Given the description of an element on the screen output the (x, y) to click on. 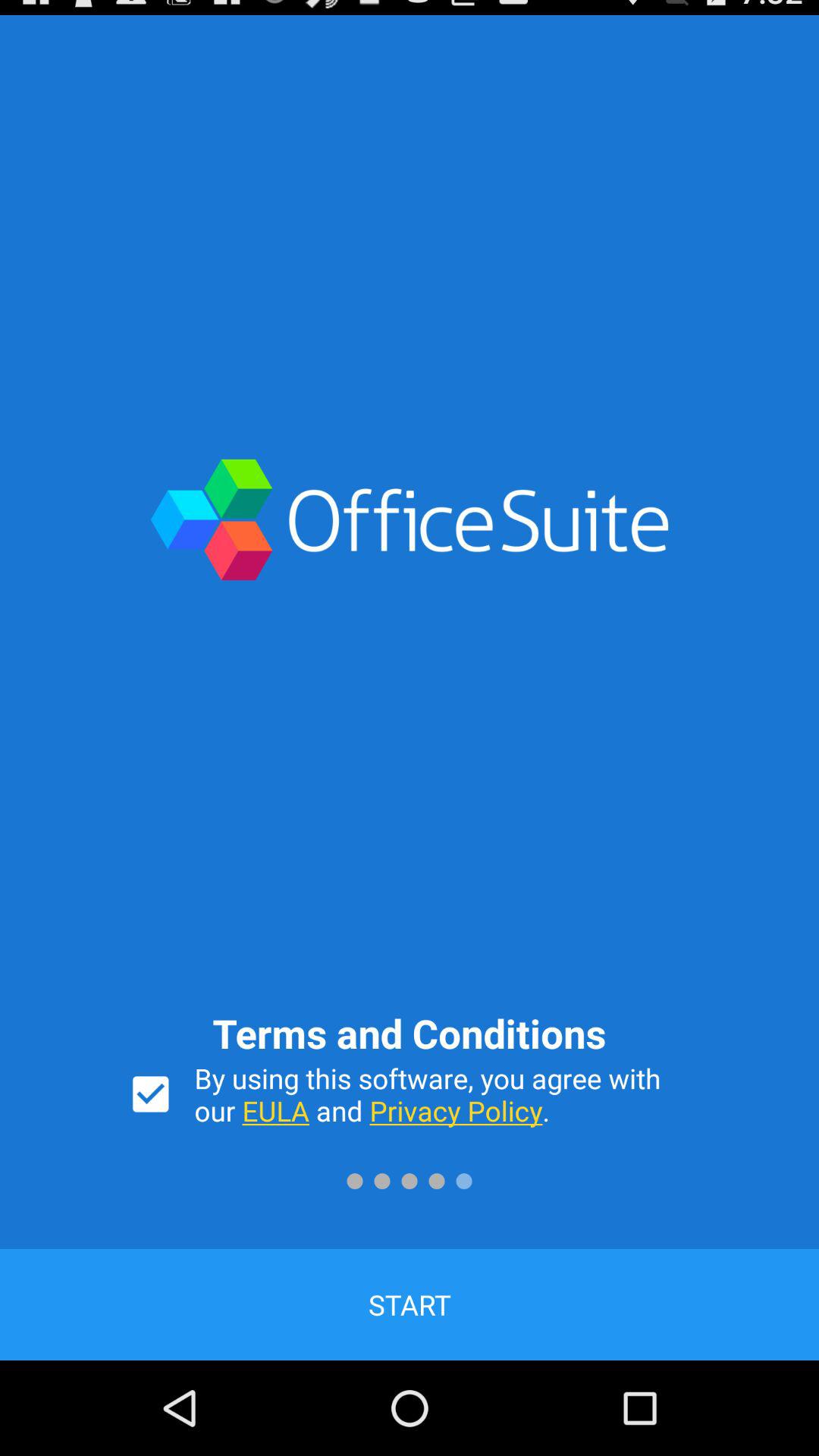
choose by using this icon (443, 1094)
